Given the description of an element on the screen output the (x, y) to click on. 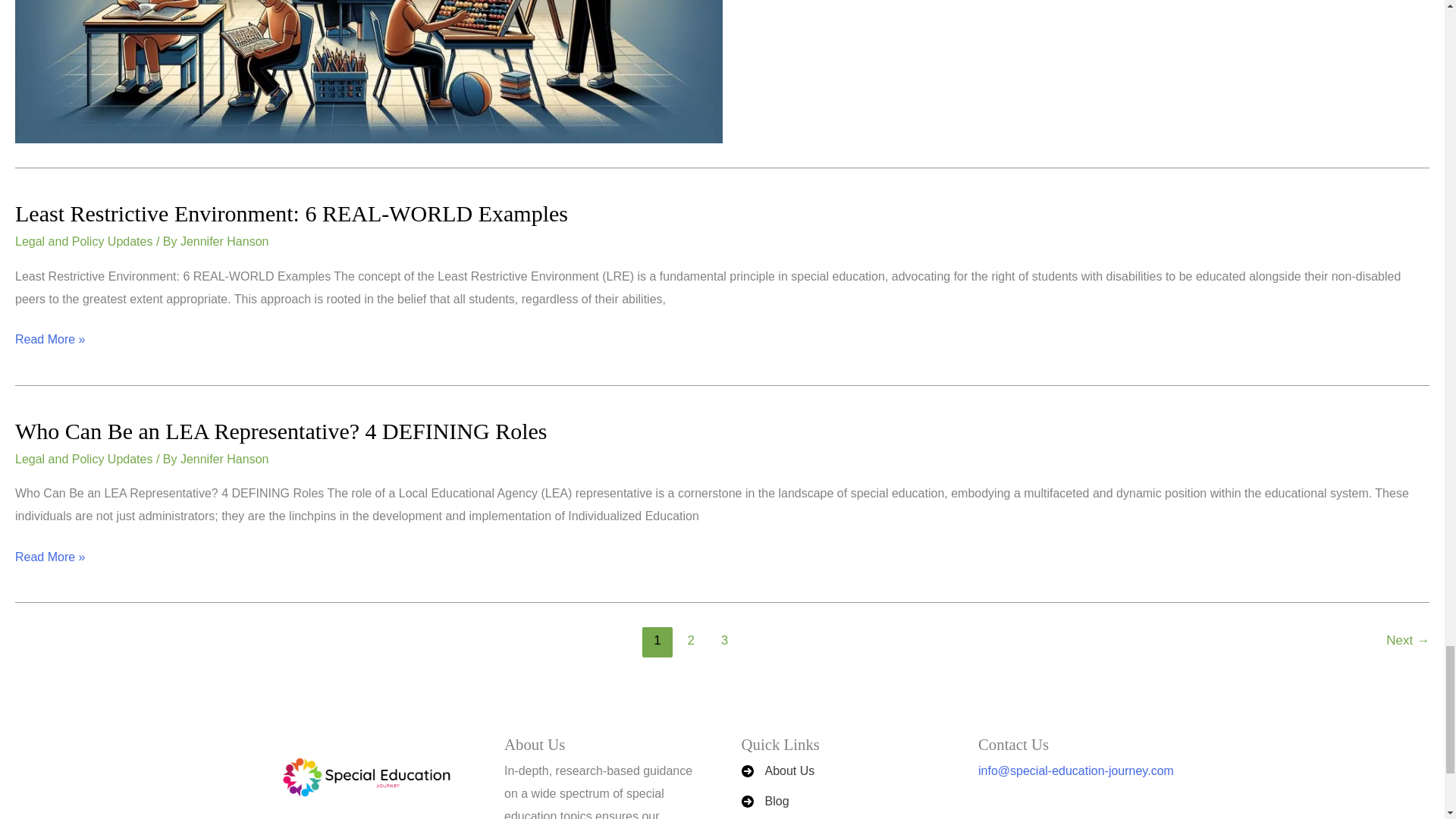
View all posts by Jennifer Hanson (224, 459)
View all posts by Jennifer Hanson (224, 241)
